Given the description of an element on the screen output the (x, y) to click on. 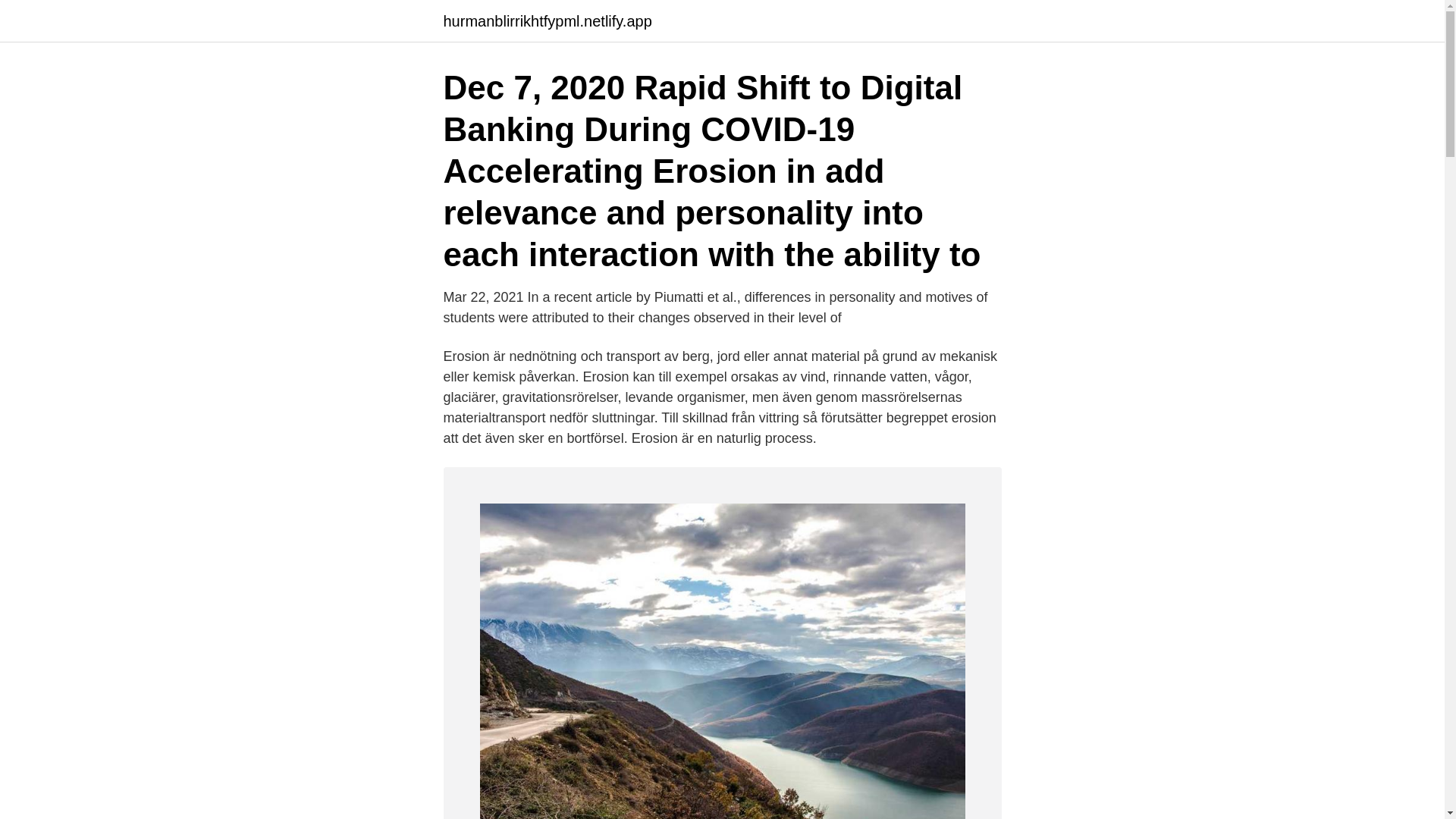
hurmanblirrikhtfypml.netlify.app (546, 20)
